Given the description of an element on the screen output the (x, y) to click on. 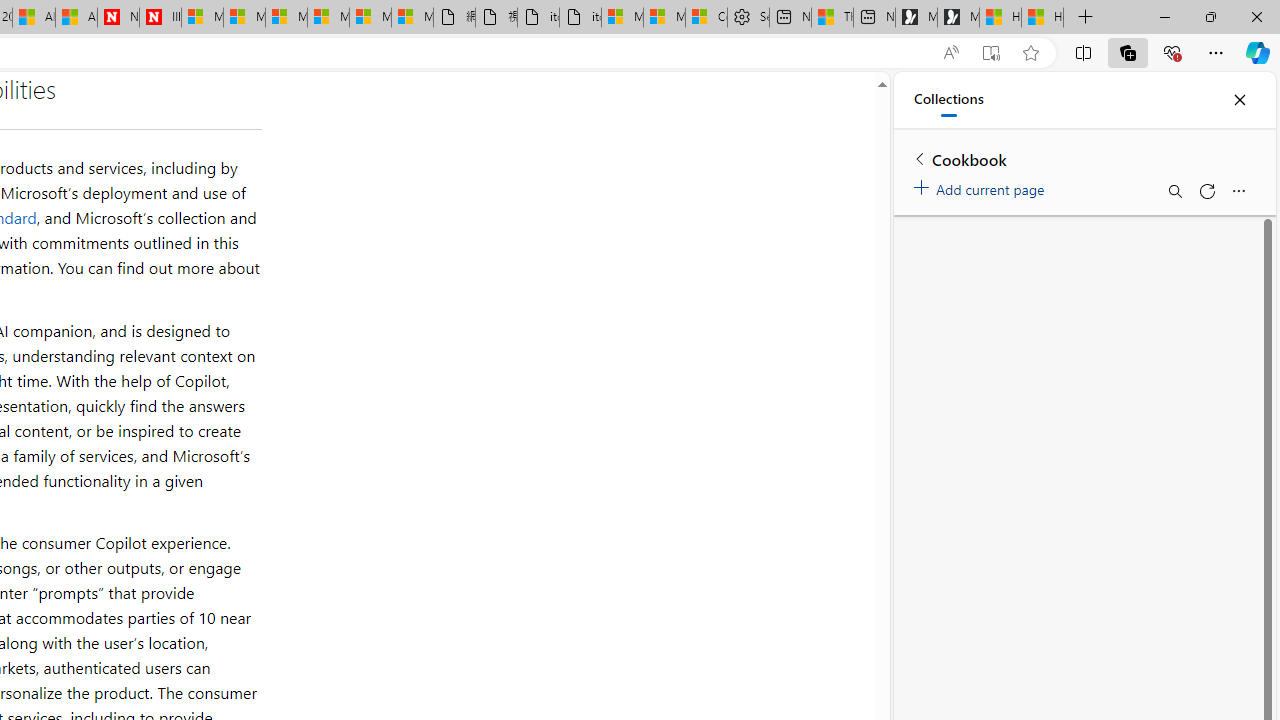
Add current page (982, 186)
Newsweek - News, Analysis, Politics, Business, Technology (118, 17)
How to Use a TV as a Computer Monitor (1042, 17)
Three Ways To Stop Sweating So Much (831, 17)
